Given the description of an element on the screen output the (x, y) to click on. 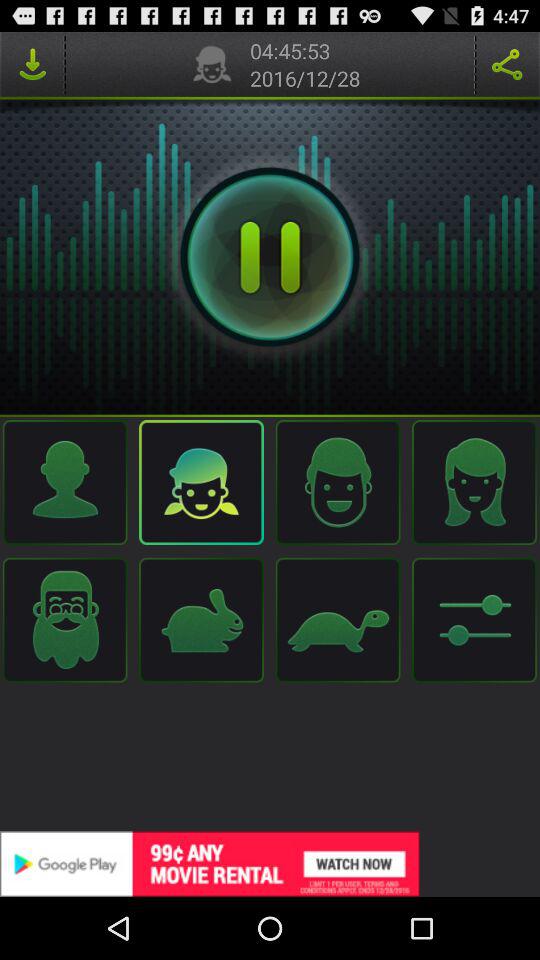
toggle audio play (270, 257)
